Given the description of an element on the screen output the (x, y) to click on. 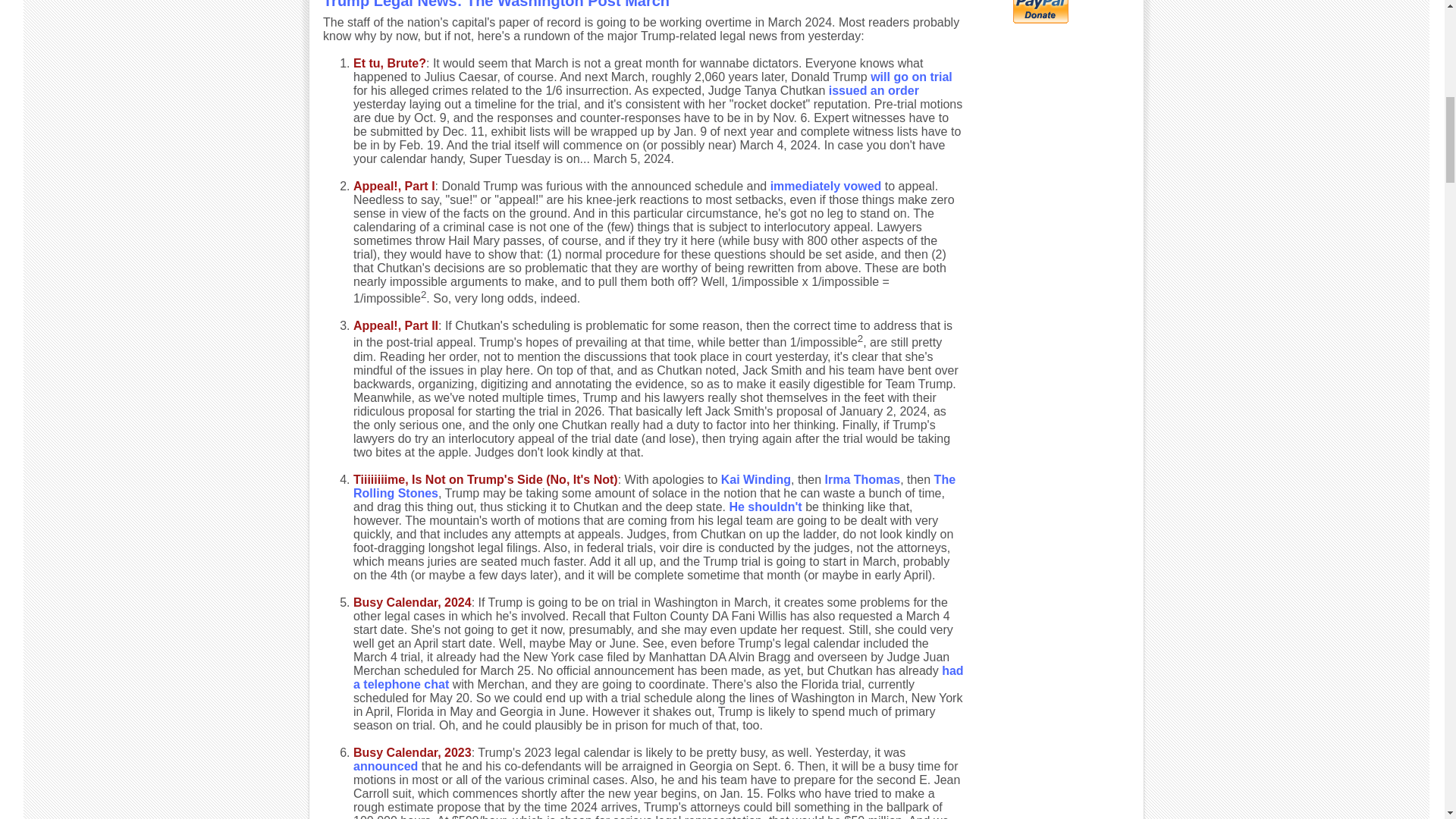
will go on trial (911, 76)
Trump Legal News: The Washington Post March (496, 4)
issued an order (873, 90)
immediately vowed (826, 185)
